Given the description of an element on the screen output the (x, y) to click on. 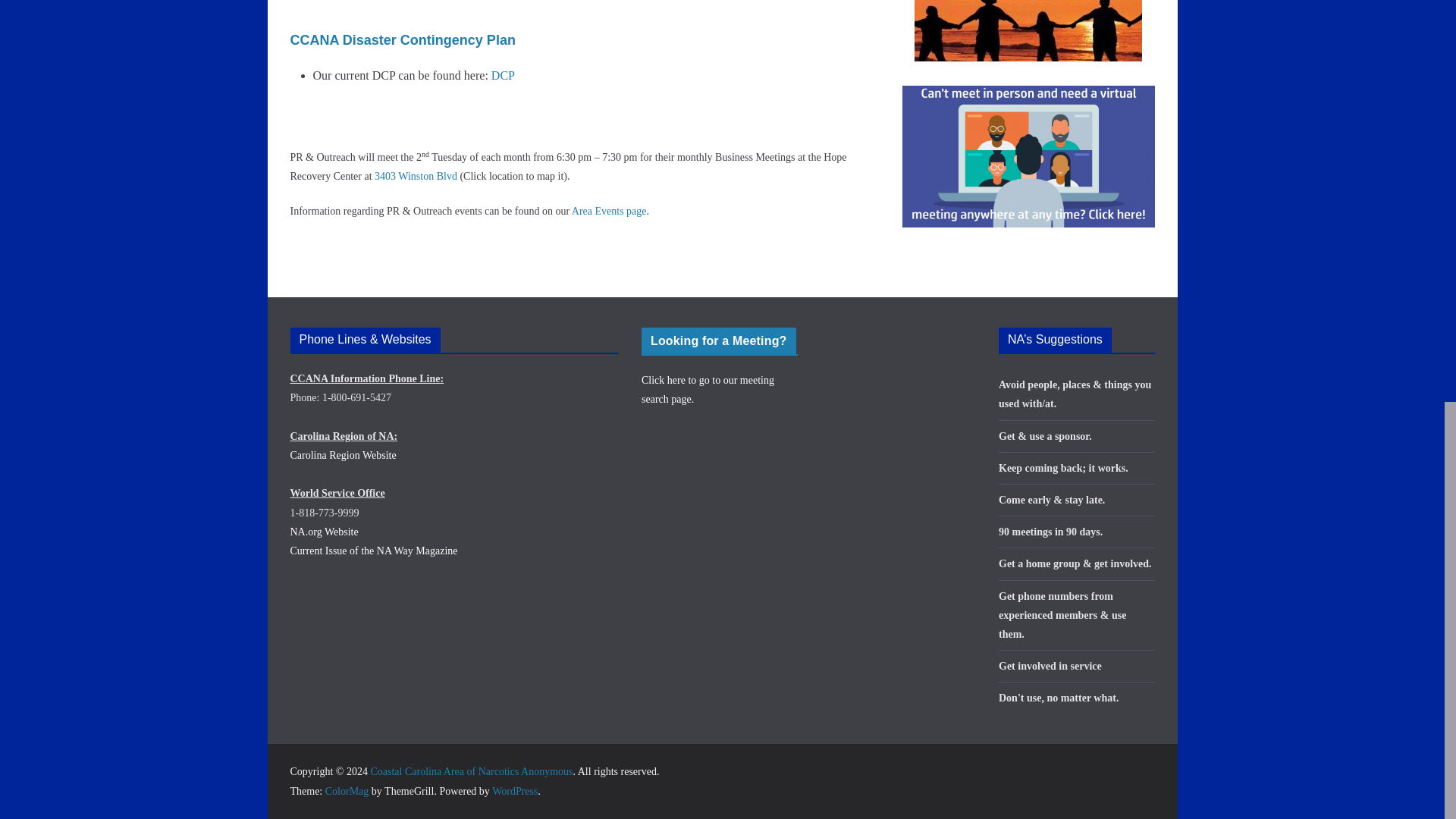
Click here to go to our meeting search page. (708, 389)
Area Events page (609, 211)
Coastal Carolina Area of Narcotics Anonymous (470, 771)
Carolina Region Website (342, 455)
Coastal Carolina Area of Narcotics Anonymous (470, 771)
DCP (503, 74)
3403 Winston Blvd (415, 175)
NA.org Website (323, 531)
WordPress (514, 790)
CCANA Disaster Contingency Plan (402, 39)
ColorMag (346, 790)
Current Issue of the NA Way Magazine (373, 550)
